Given the description of an element on the screen output the (x, y) to click on. 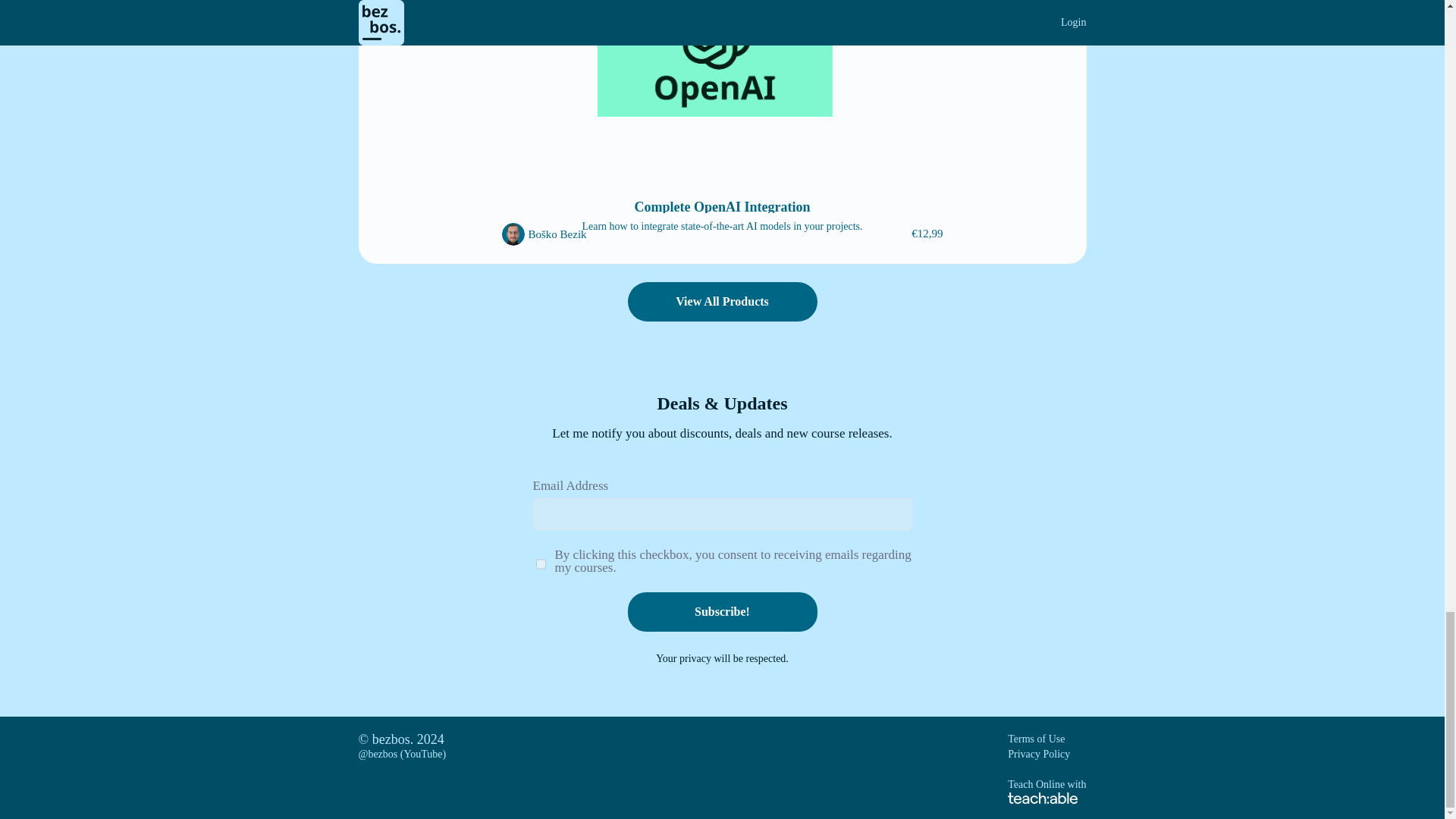
Terms of Use (1035, 738)
Privacy Policy (1038, 754)
Subscribe! (721, 611)
Teach Online with (1046, 790)
View All Products (721, 301)
View All Products (721, 302)
Complete OpenAI Integration (722, 206)
